Given the description of an element on the screen output the (x, y) to click on. 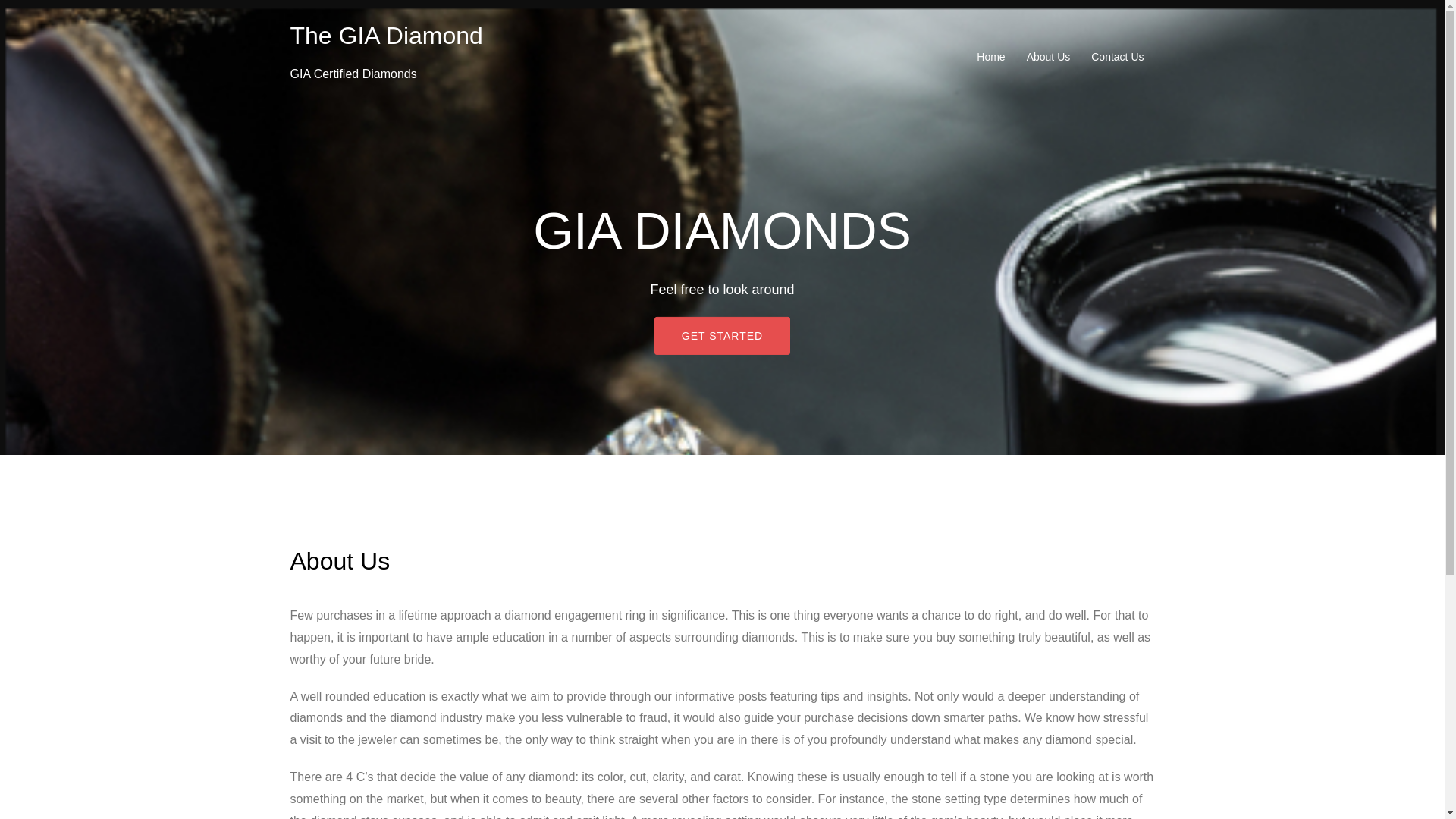
Home (990, 56)
The GIA Diamond (385, 35)
GET STARTED (721, 335)
Contact Us (1116, 56)
About Us (1048, 56)
